Given the description of an element on the screen output the (x, y) to click on. 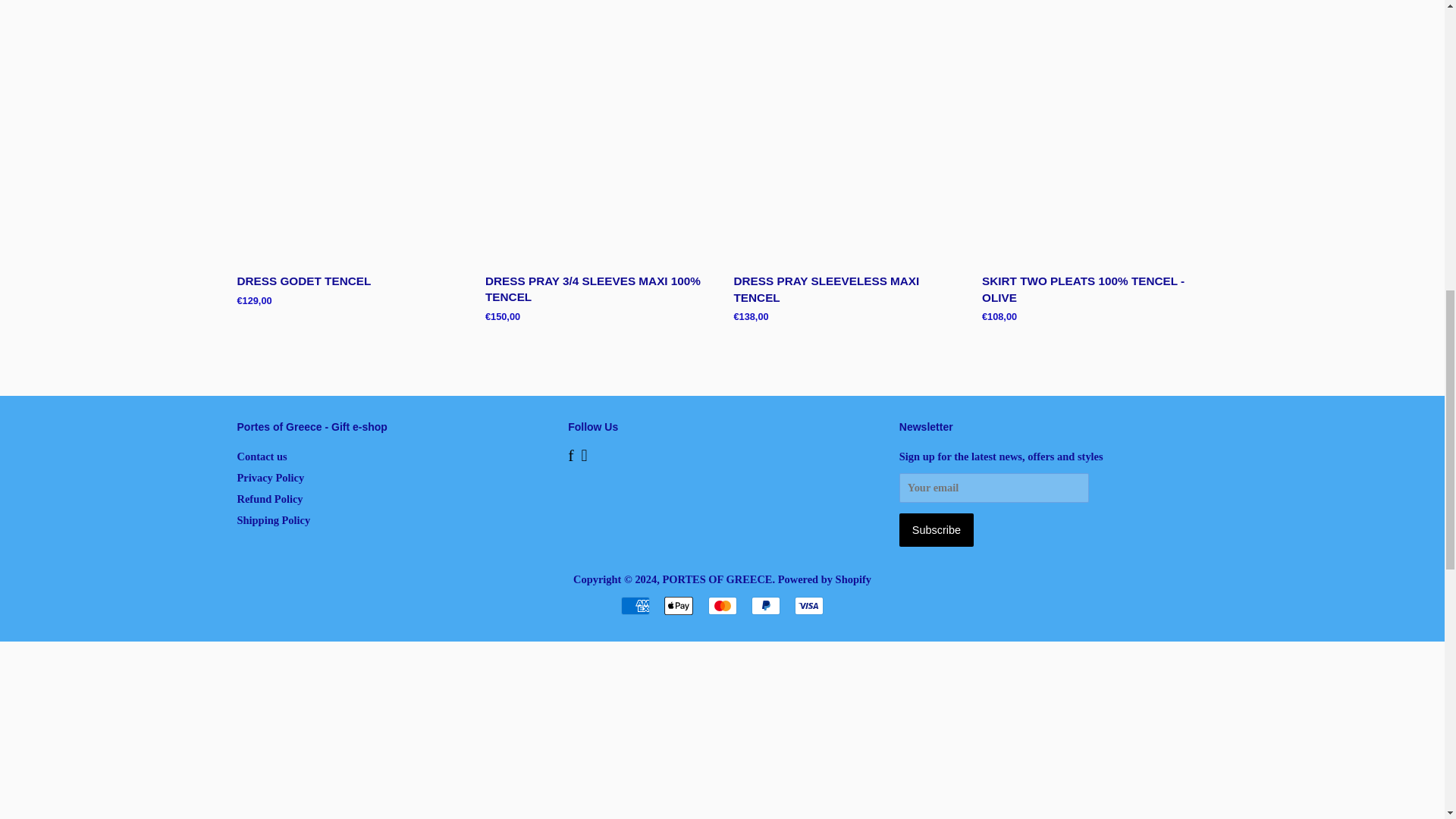
PayPal (765, 606)
Subscribe (936, 530)
American Express (635, 606)
Mastercard (721, 606)
Apple Pay (678, 606)
Visa (809, 606)
